Given the description of an element on the screen output the (x, y) to click on. 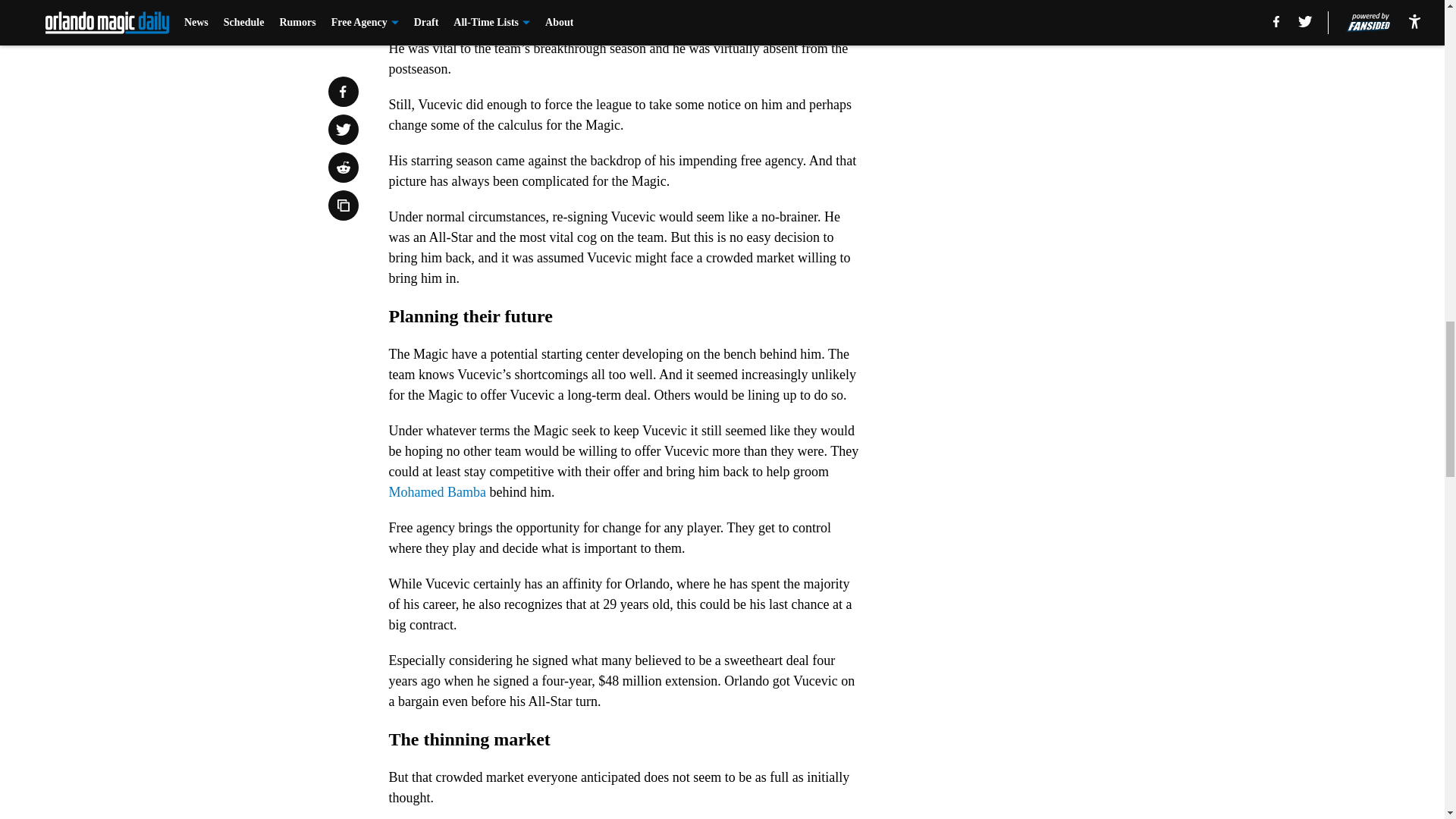
their strategy was built on frustrating and stopping Vucevic (617, 18)
Toronto Raptors (502, 7)
Mohamed Bamba (436, 491)
